Given the description of an element on the screen output the (x, y) to click on. 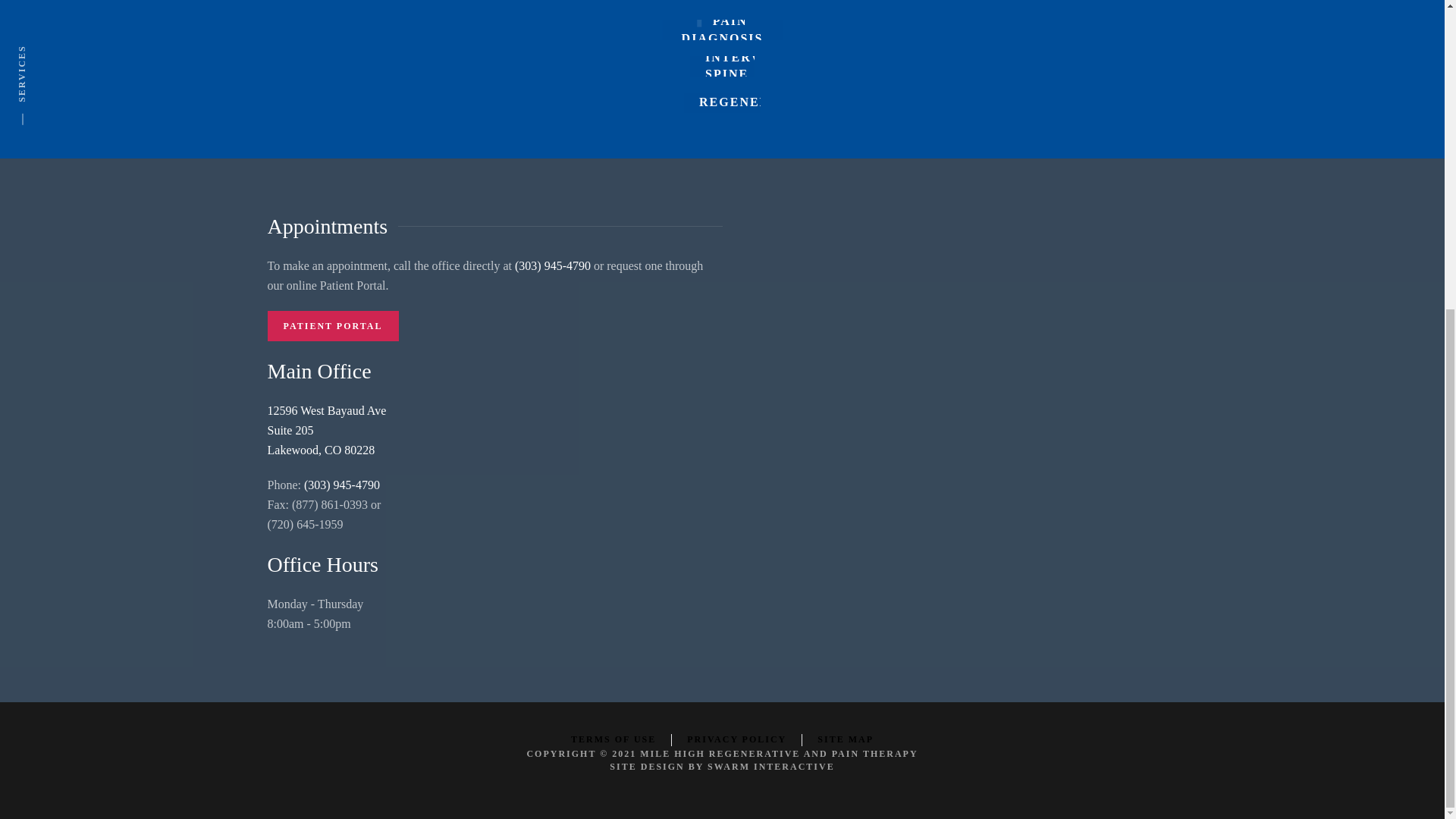
Mile High Regenerative and Pain Therapy - Colorado (778, 753)
Visit Swarm Interactive, Inc. (770, 766)
Office phone number (553, 265)
Office phone number (342, 484)
